Given the description of an element on the screen output the (x, y) to click on. 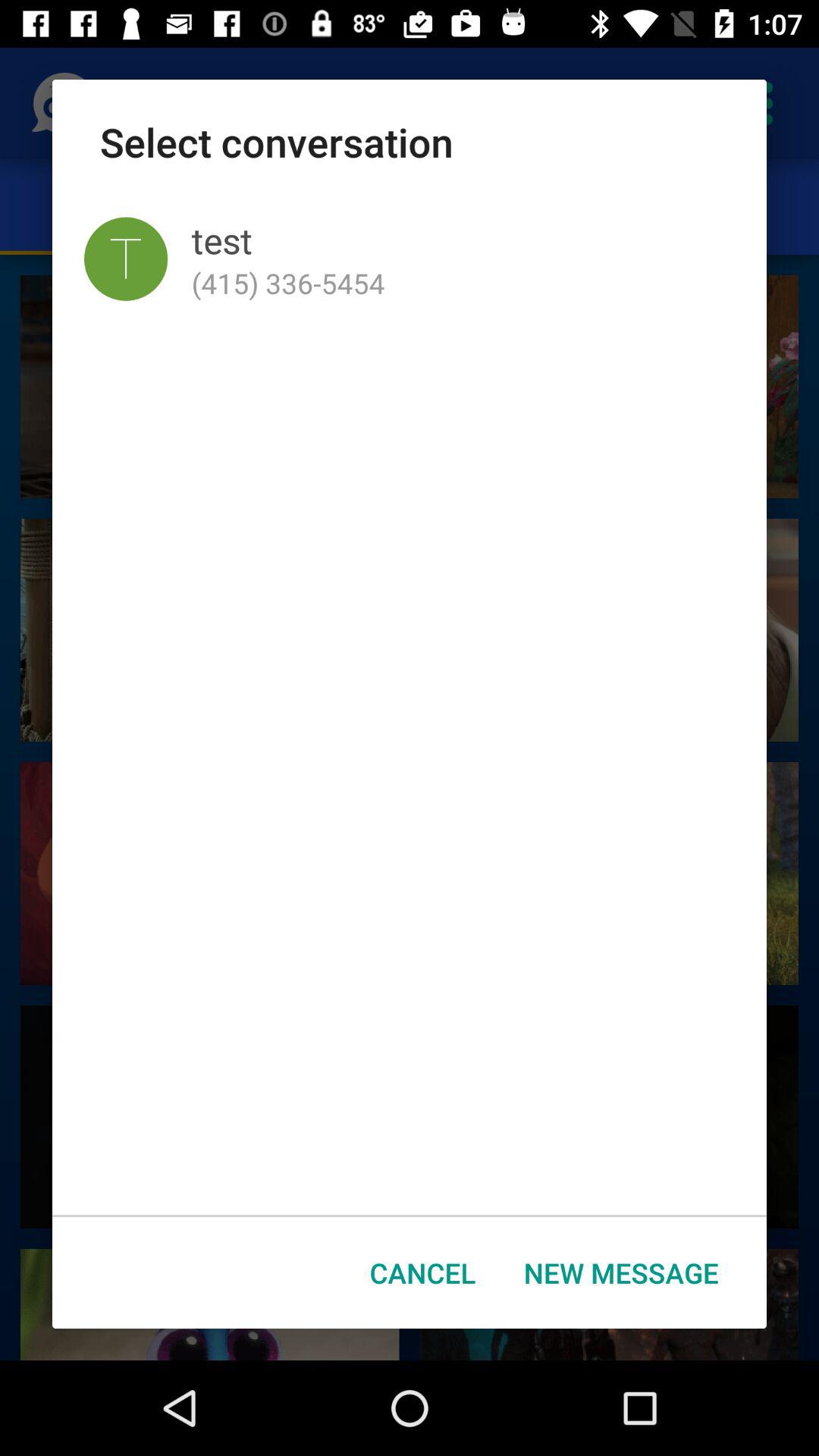
launch the button next to the cancel item (620, 1272)
